Given the description of an element on the screen output the (x, y) to click on. 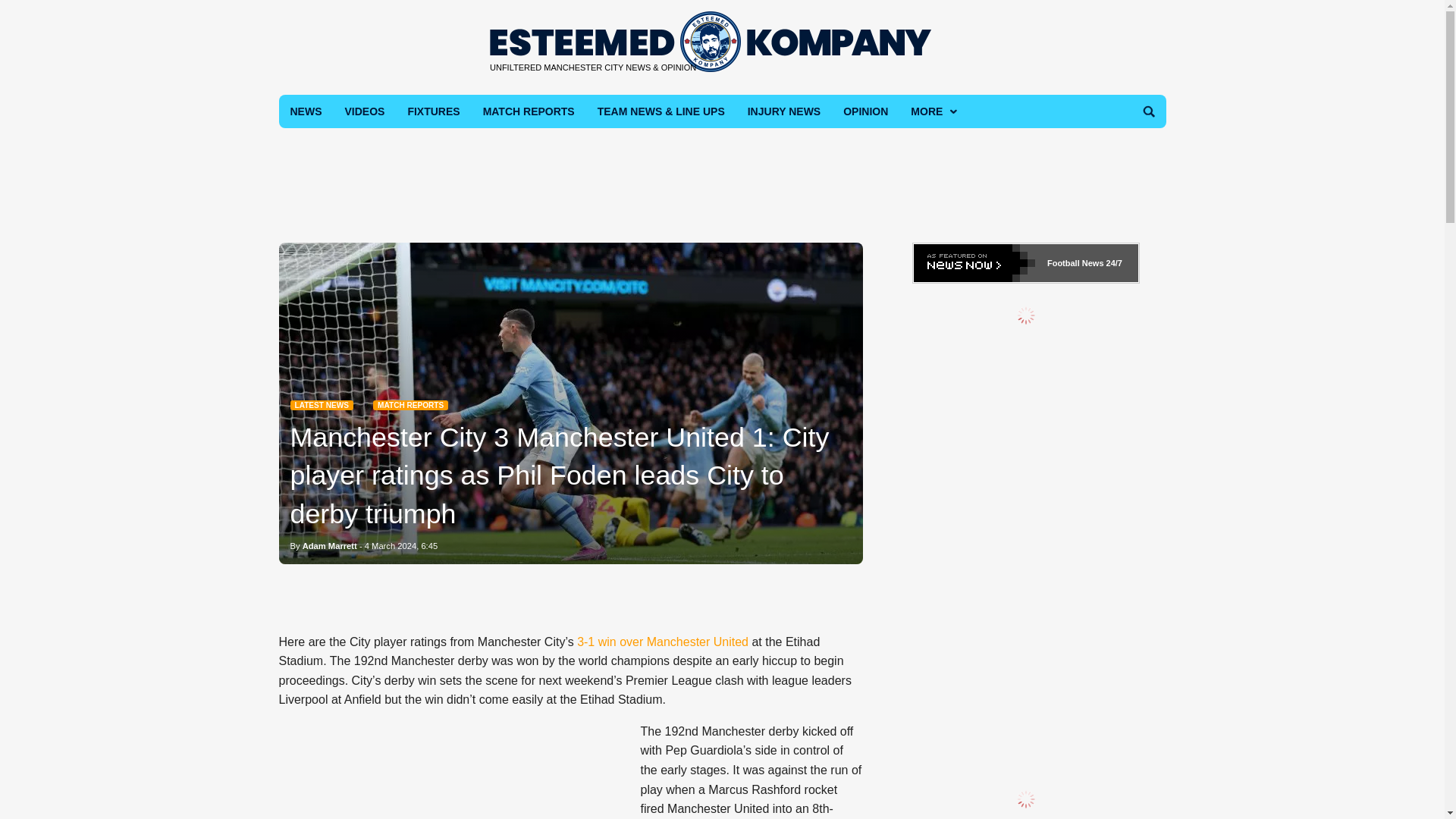
FIXTURES (433, 111)
Latest Match Reports News (410, 405)
LATEST NEWS (320, 405)
INJURY NEWS (783, 111)
MORE (932, 111)
MATCH REPORTS (410, 405)
NEWS (306, 111)
Latest Latest News News (320, 405)
OPINION (865, 111)
MATCH REPORTS (528, 111)
Search (1147, 111)
4 March 2024, 6:45 (401, 545)
Adam Marrett (329, 545)
VIDEOS (364, 111)
